Given the description of an element on the screen output the (x, y) to click on. 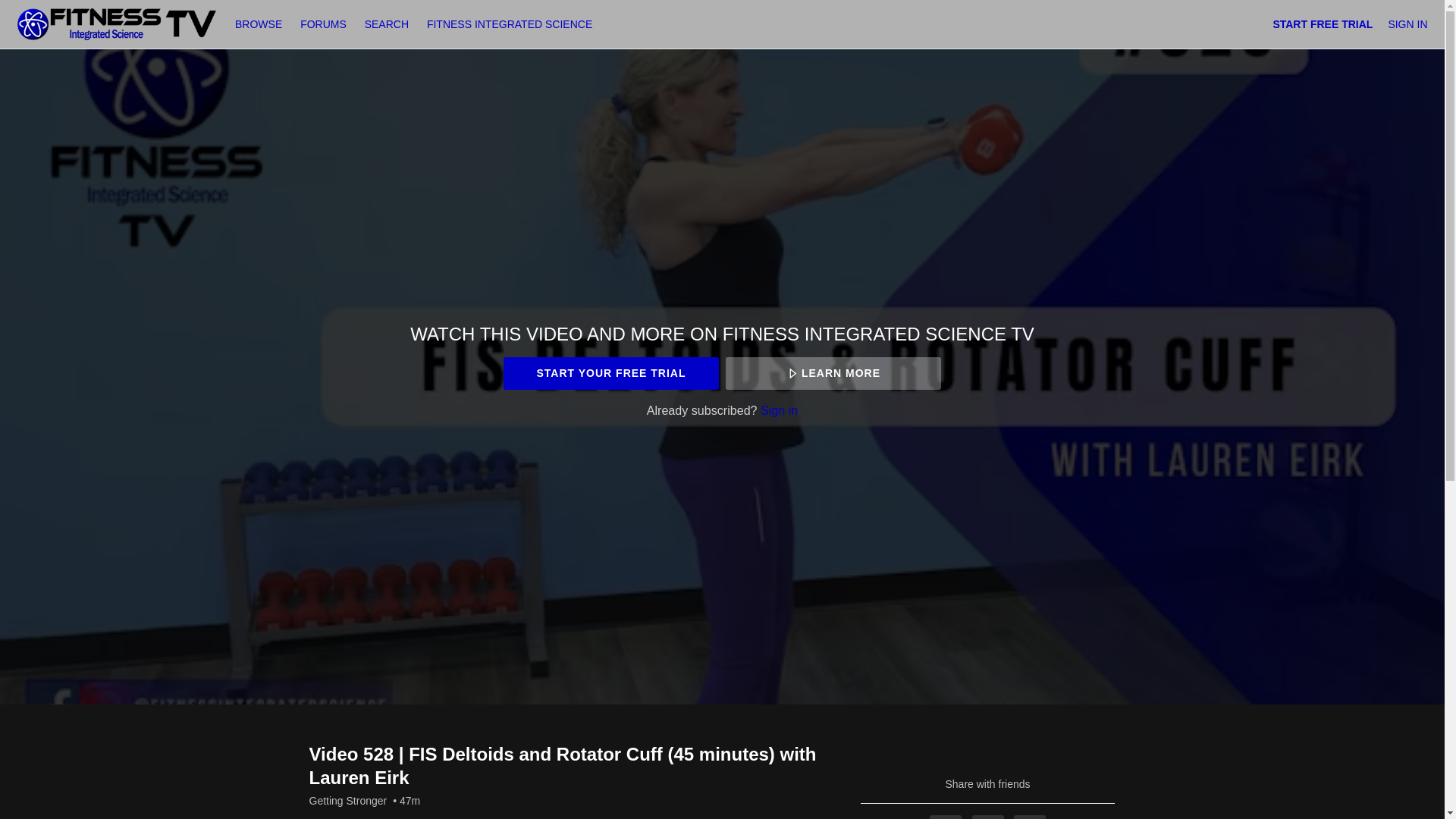
Facebook (945, 816)
FORUMS (324, 24)
START FREE TRIAL (1322, 24)
SIGN IN (1406, 24)
Skip to main content (48, 7)
START YOUR FREE TRIAL (610, 373)
Sign in (778, 409)
Twitter (988, 816)
BROWSE (259, 24)
Email (1029, 816)
Getting Stronger (347, 800)
FITNESS INTEGRATED SCIENCE (509, 24)
LEARN MORE (832, 373)
SEARCH (387, 24)
